Given the description of an element on the screen output the (x, y) to click on. 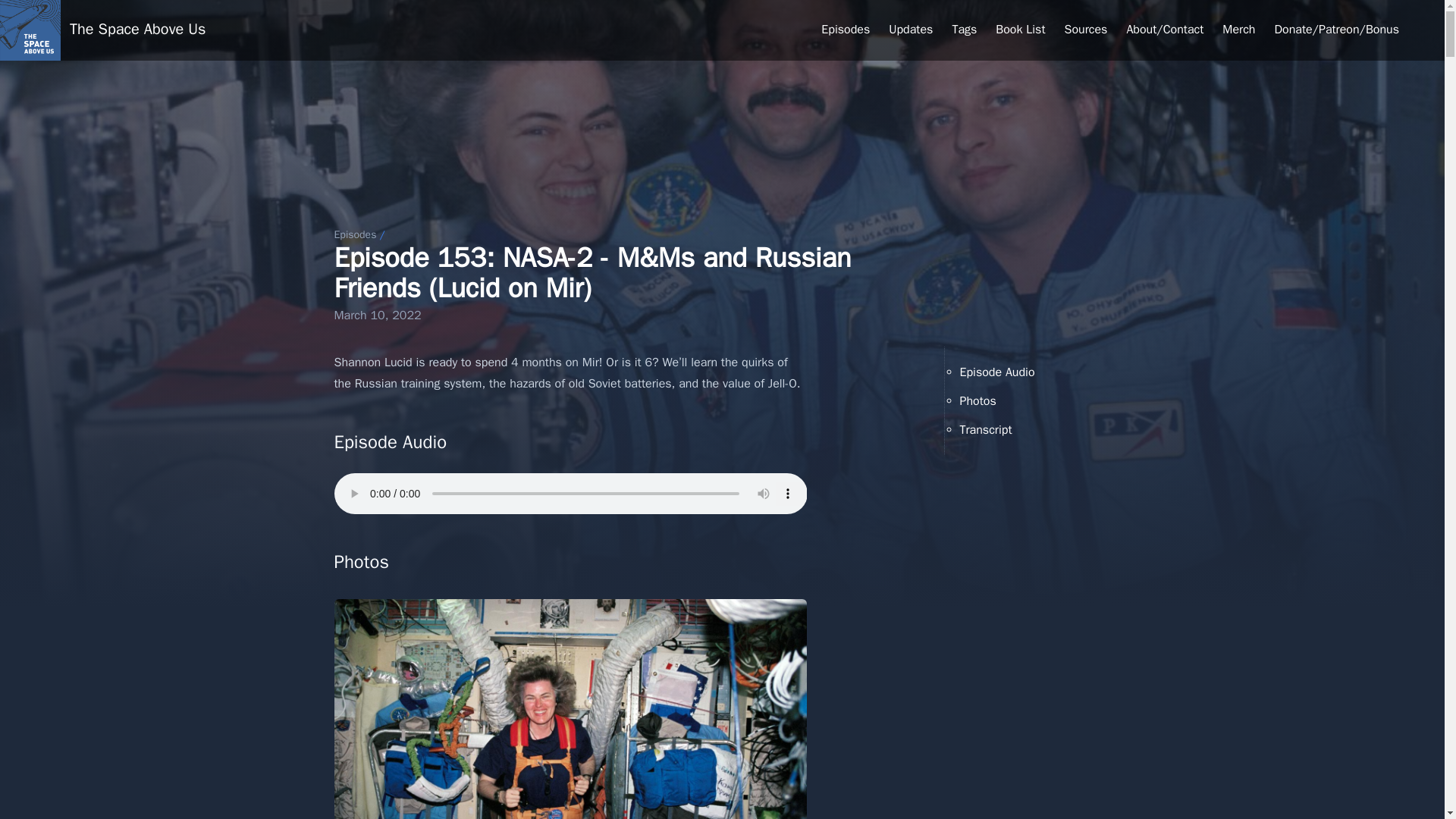
Transcript (985, 429)
Updates (910, 30)
Updates (910, 30)
Tags (964, 30)
Sources and References (1086, 30)
Episode Audio (997, 372)
Recommended Books (1020, 30)
Tags (964, 30)
Episodes (354, 234)
Book List (1020, 30)
Merch (1239, 30)
Photos (977, 400)
The Space Above Us (137, 29)
Merch (1239, 30)
Episodes (845, 30)
